Given the description of an element on the screen output the (x, y) to click on. 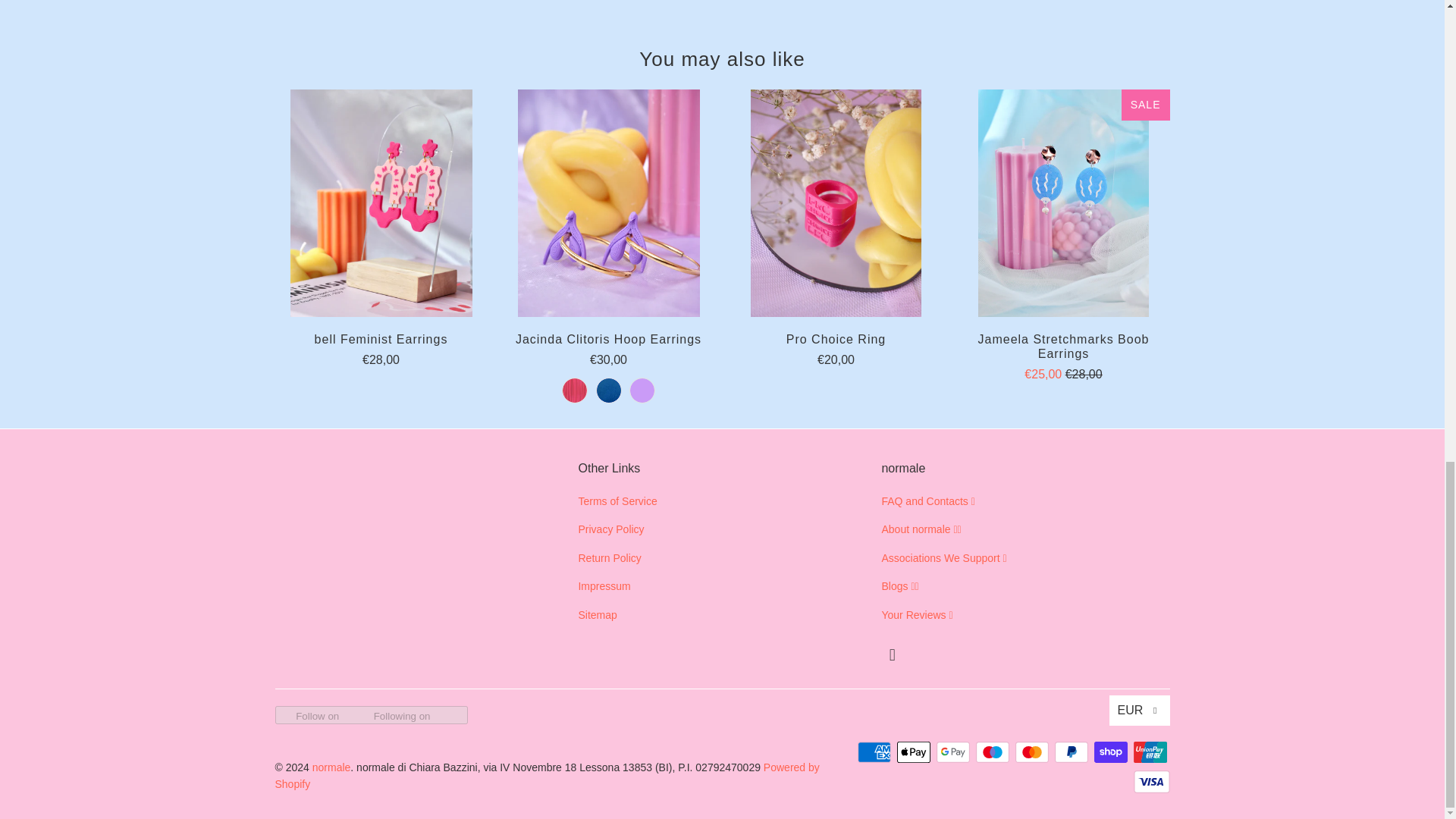
Google Pay (954, 752)
Apple Pay (914, 752)
Union Pay (1150, 752)
Visa (1150, 781)
American Express (875, 752)
Shop Pay (1112, 752)
Mastercard (1032, 752)
PayPal (1072, 752)
normale on Instagram (892, 655)
Maestro (993, 752)
